Given the description of an element on the screen output the (x, y) to click on. 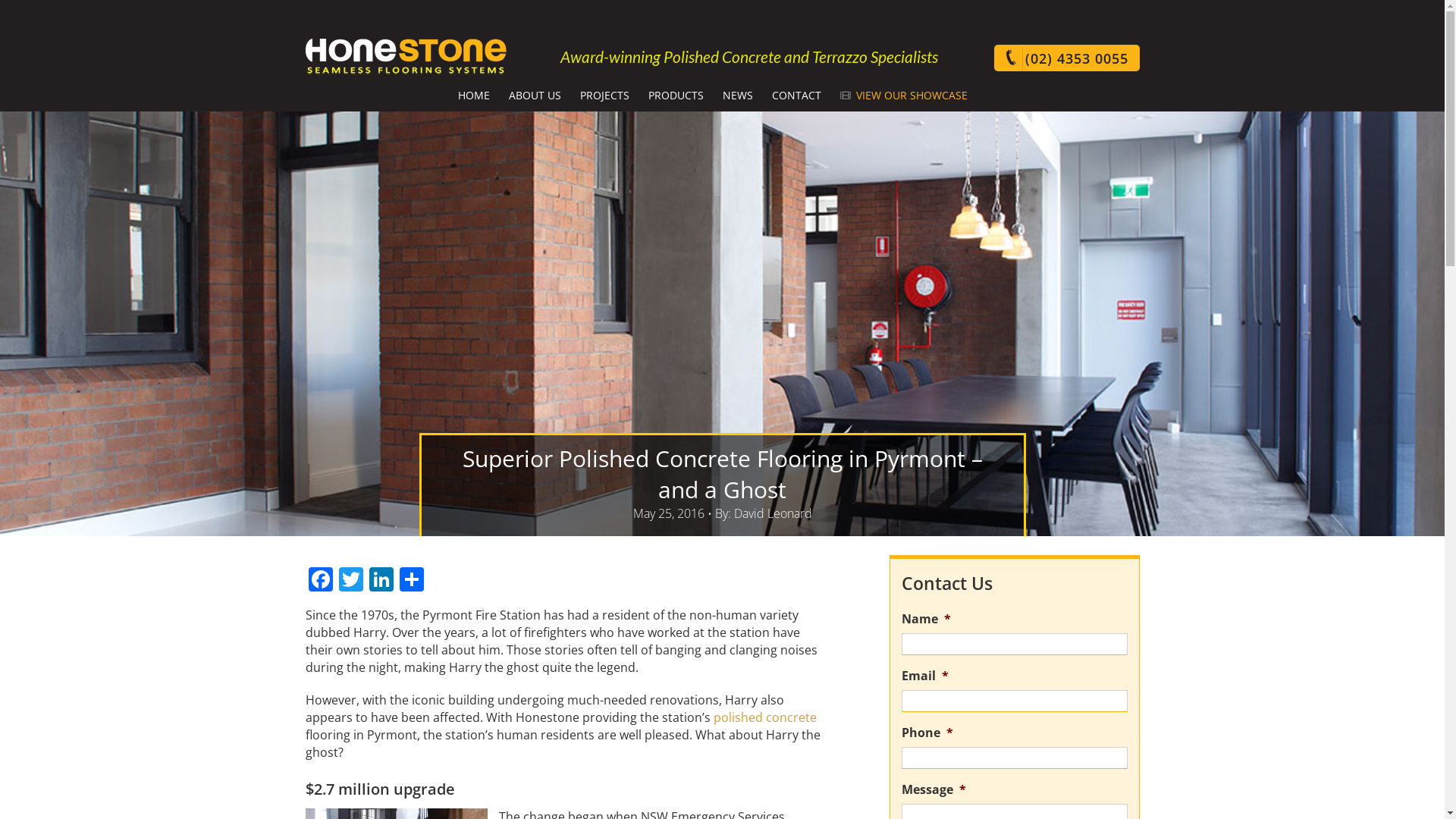
Twitter Element type: text (350, 580)
Share Element type: text (410, 580)
polished concrete Element type: text (763, 717)
 (02) 4353 0055 Element type: text (1066, 57)
NEWS Element type: text (737, 94)
Facebook Element type: text (319, 580)
VIEW OUR SHOWCASE Element type: text (903, 94)
LinkedIn Element type: text (380, 580)
PROJECTS Element type: text (604, 94)
ABOUT US Element type: text (534, 94)
PRODUCTS Element type: text (675, 94)
CONTACT Element type: text (796, 94)
David Leonard Element type: text (773, 513)
HOME Element type: text (473, 94)
